Given the description of an element on the screen output the (x, y) to click on. 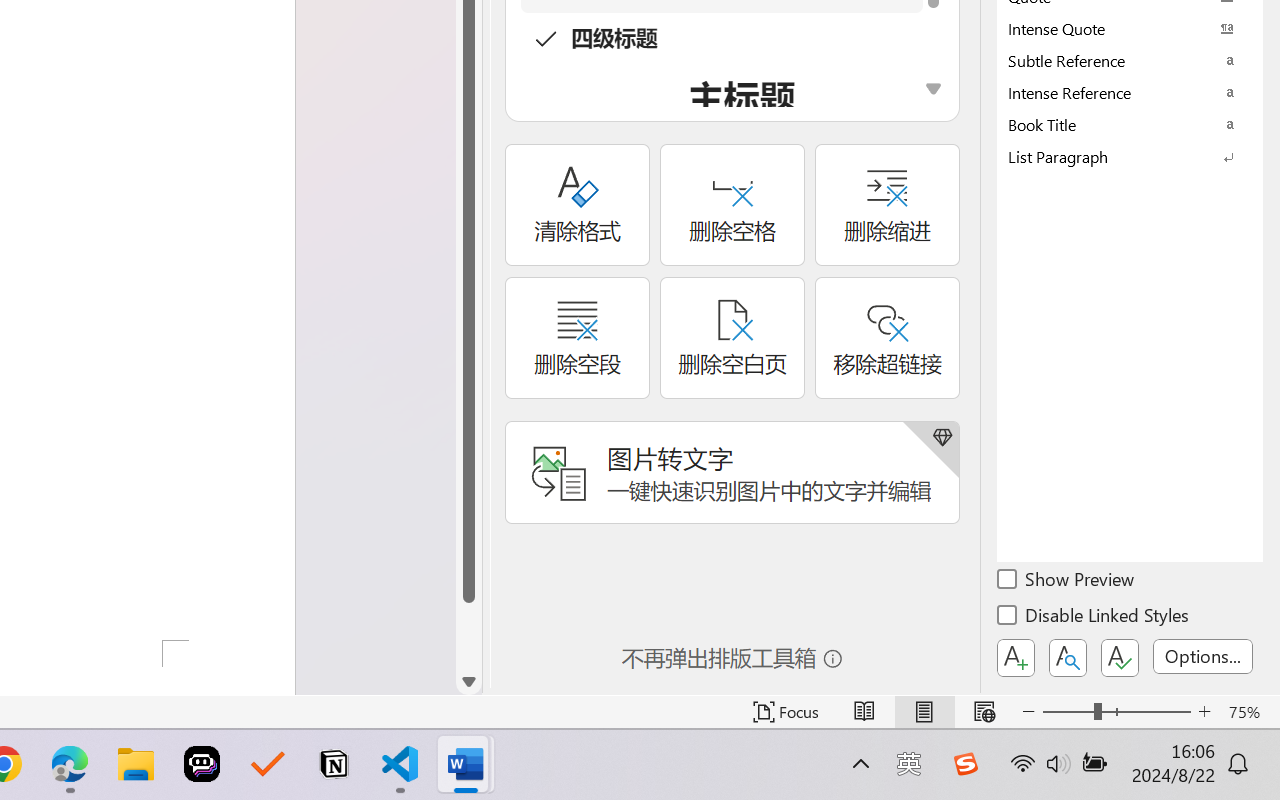
Print Layout (924, 712)
Subtle Reference (1130, 60)
Class: NetUIButton (1119, 657)
Book Title (1130, 124)
Disable Linked Styles (1094, 618)
Intense Quote (1130, 28)
Zoom Out (1067, 712)
